Given the description of an element on the screen output the (x, y) to click on. 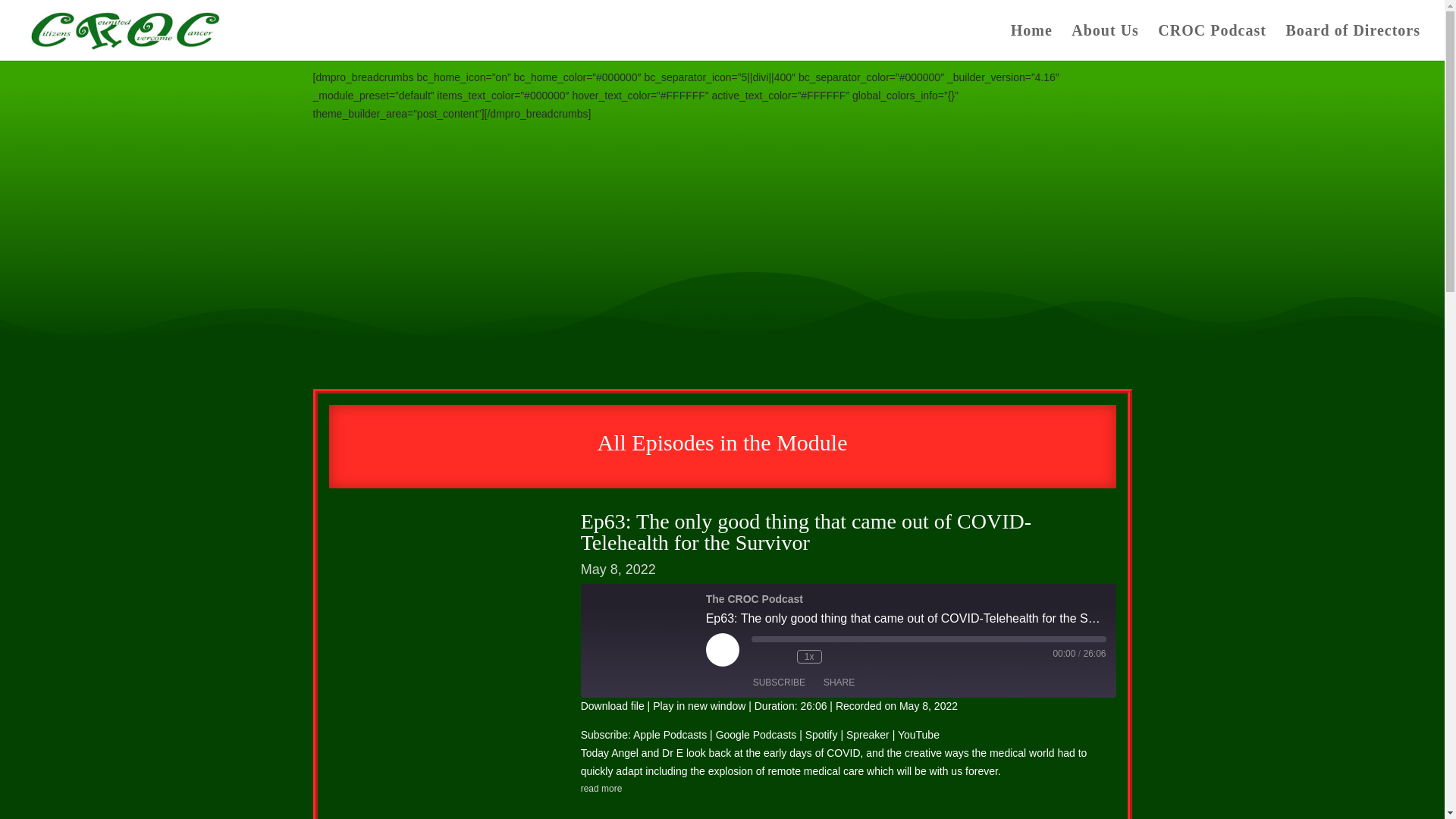
CROC Podcast (1211, 42)
Spotify (821, 734)
Rewind 10 seconds (781, 656)
YouTube (918, 734)
Home (1031, 42)
Playback Speed (809, 656)
Fast Forward 30 seconds (836, 656)
Subscribe (778, 682)
Share (838, 682)
